Given the description of an element on the screen output the (x, y) to click on. 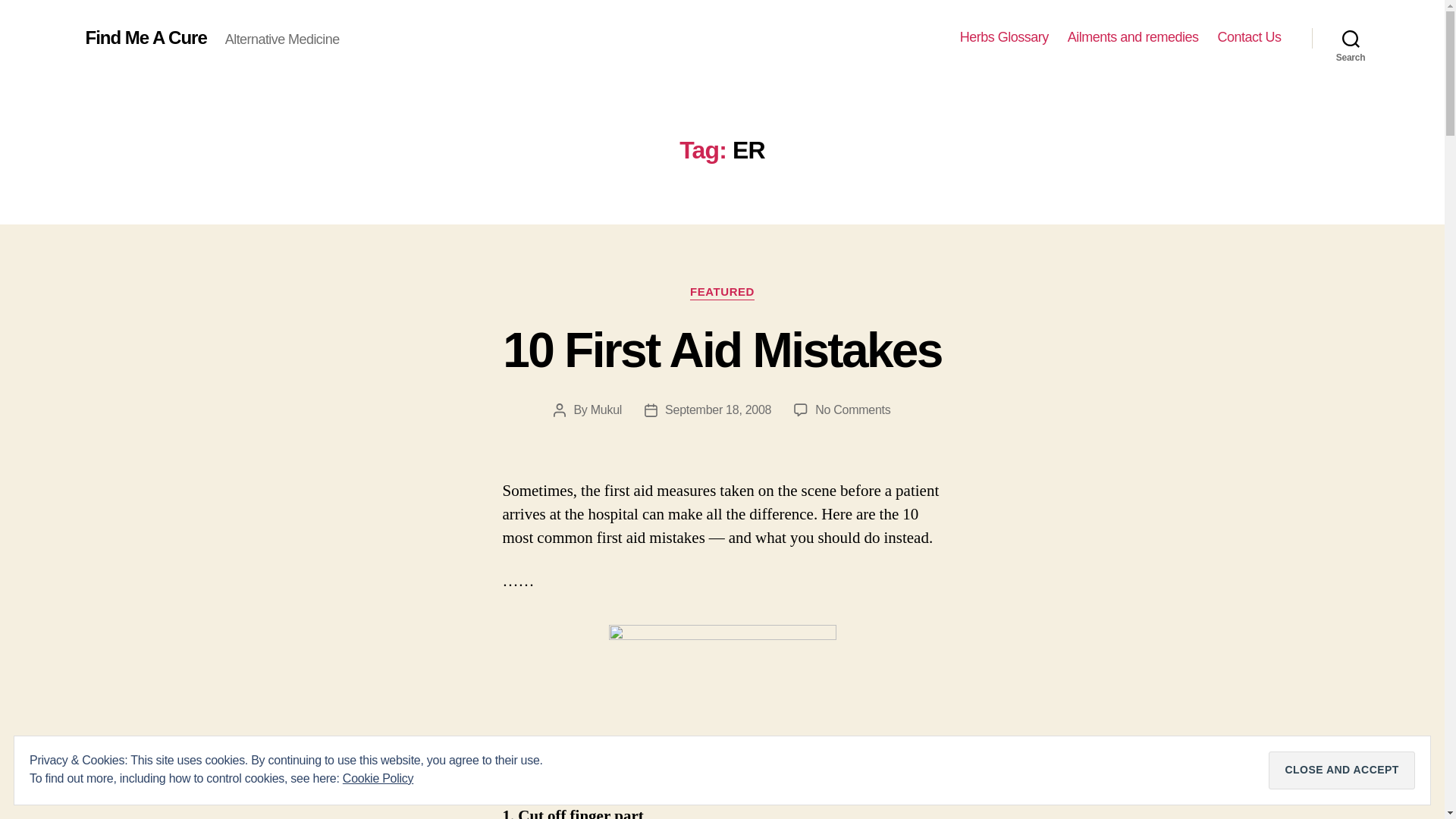
10 First Aid Mistakes (721, 349)
Find Me A Cure (145, 37)
Herbs Glossary (1003, 37)
Mukul (606, 409)
FEATURED (722, 292)
Contact Us (852, 409)
Ailments and remedies (1249, 37)
Search (1132, 37)
September 18, 2008 (1350, 37)
Close and accept (718, 409)
